Given the description of an element on the screen output the (x, y) to click on. 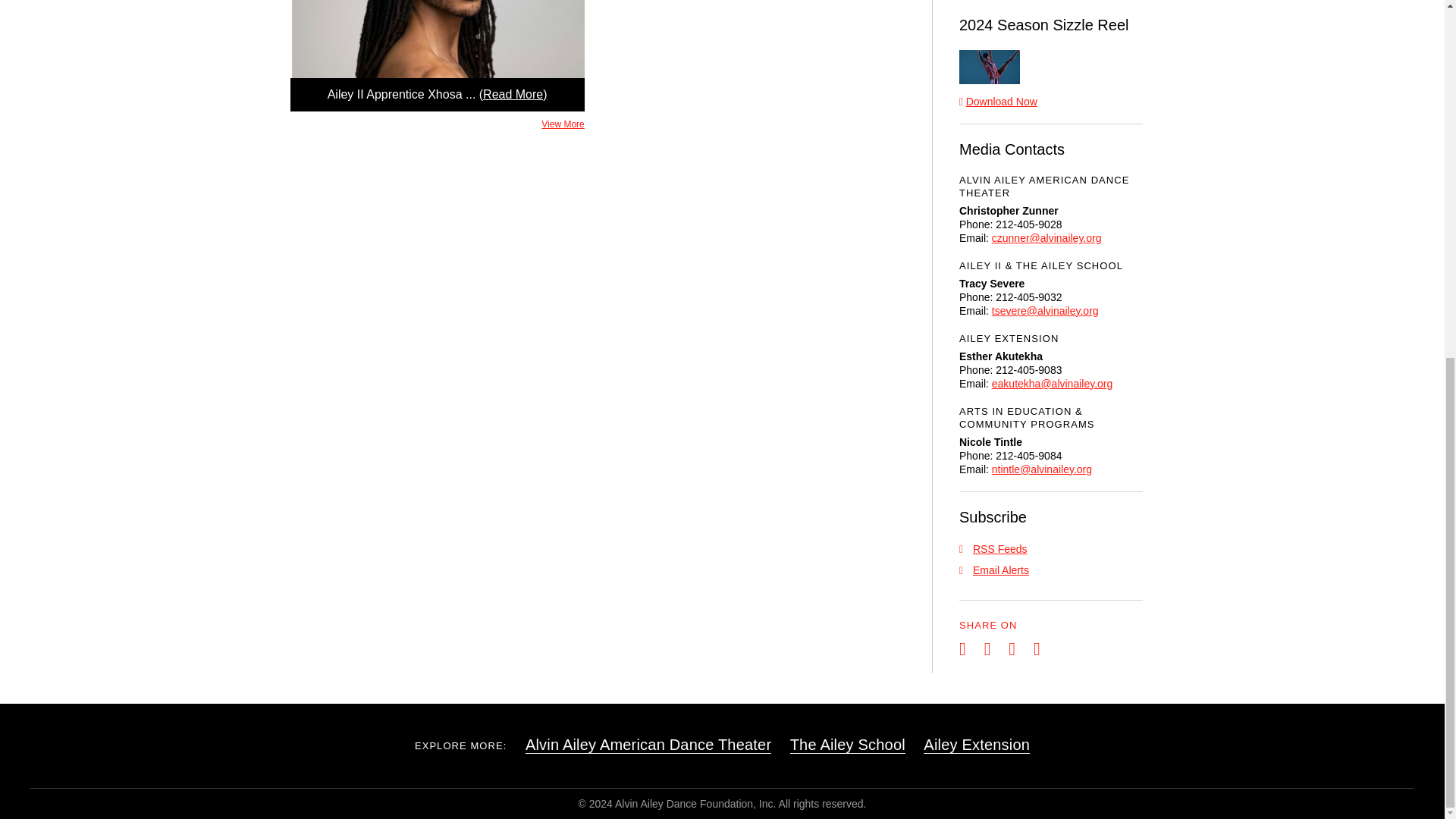
Email Esther Akutekha (1052, 383)
Email Alerts (994, 570)
Email Nicole Tintle (1041, 469)
Ailey II 2023 -2024 Season B-roll (989, 66)
Email Tracy Severe (1045, 310)
Email Christopher Zunner (1046, 237)
RSS Feeds (993, 548)
